Given the description of an element on the screen output the (x, y) to click on. 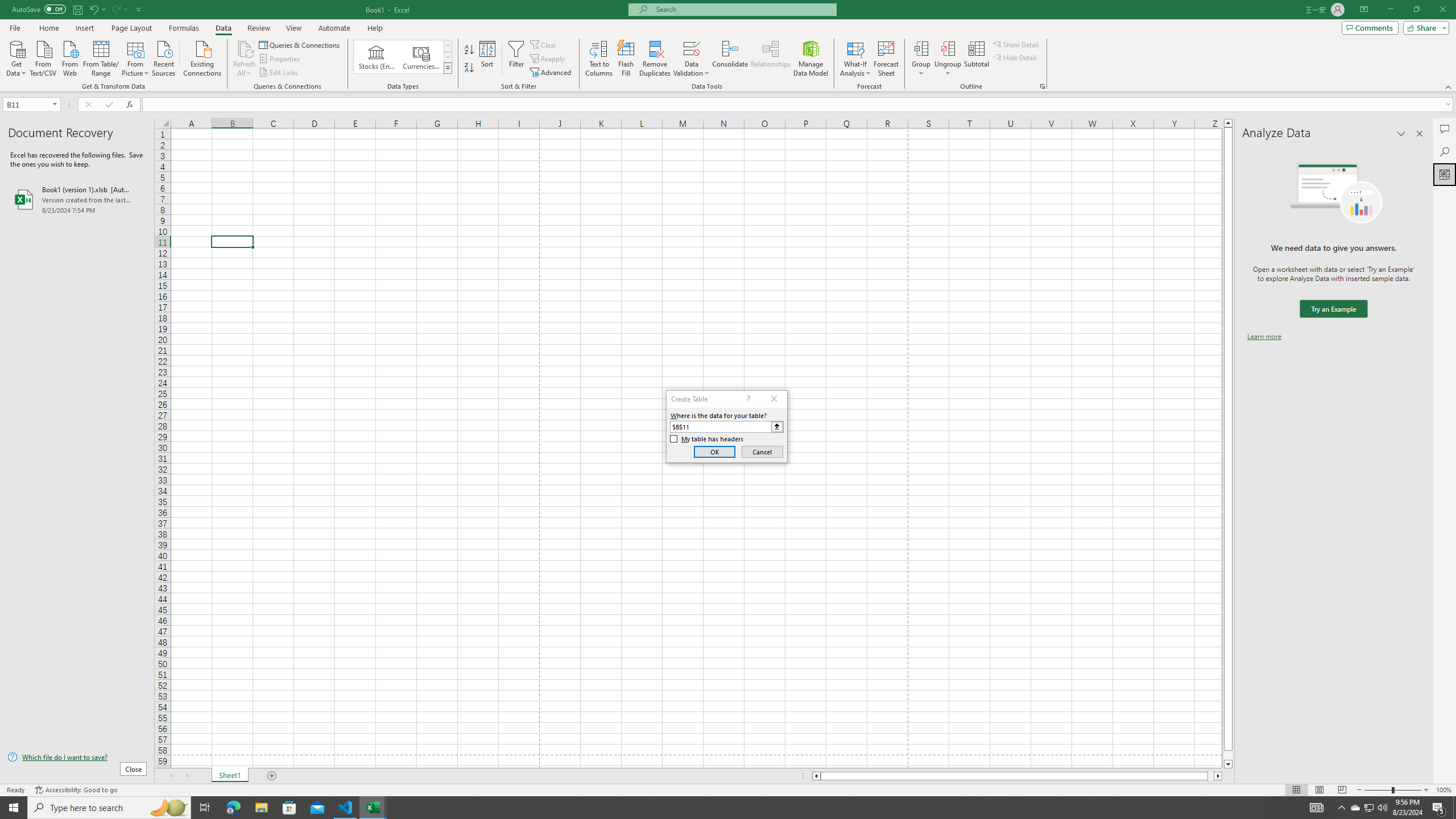
Learn more (1264, 336)
Currencies (English) (420, 56)
Hide Detail (1014, 56)
Filter (515, 58)
Sort Z to A (469, 67)
Sort... (487, 58)
